Given the description of an element on the screen output the (x, y) to click on. 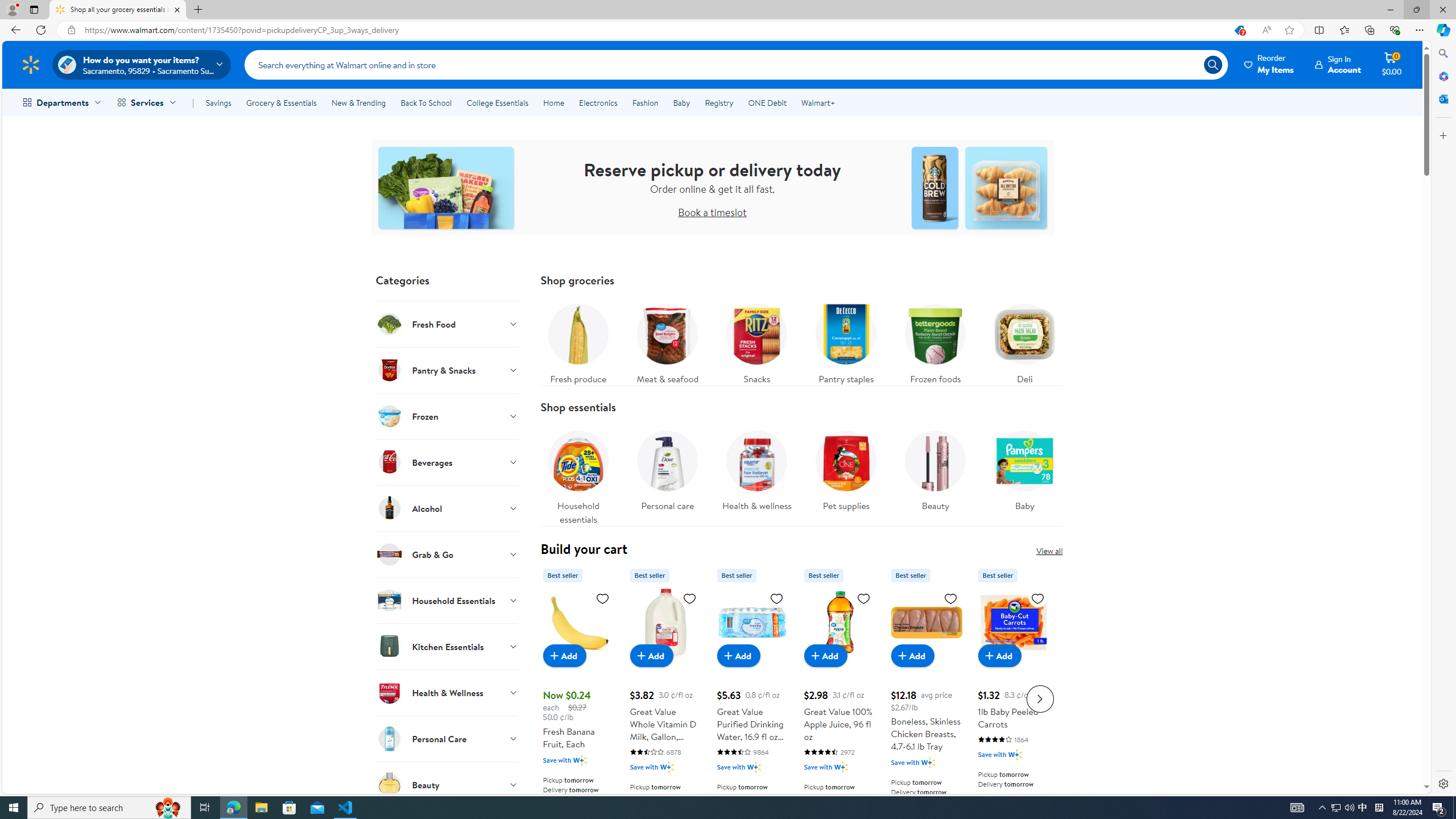
ONE Debit (767, 102)
Personal care (667, 467)
Beauty (446, 784)
Household essentials (577, 473)
Registry (718, 102)
Cart contains 0 items Total Amount $0.00 (1391, 64)
Walmart Plus (1015, 754)
Health & Wellness (446, 692)
Back To School (425, 102)
ONE Debit (767, 102)
